Given the description of an element on the screen output the (x, y) to click on. 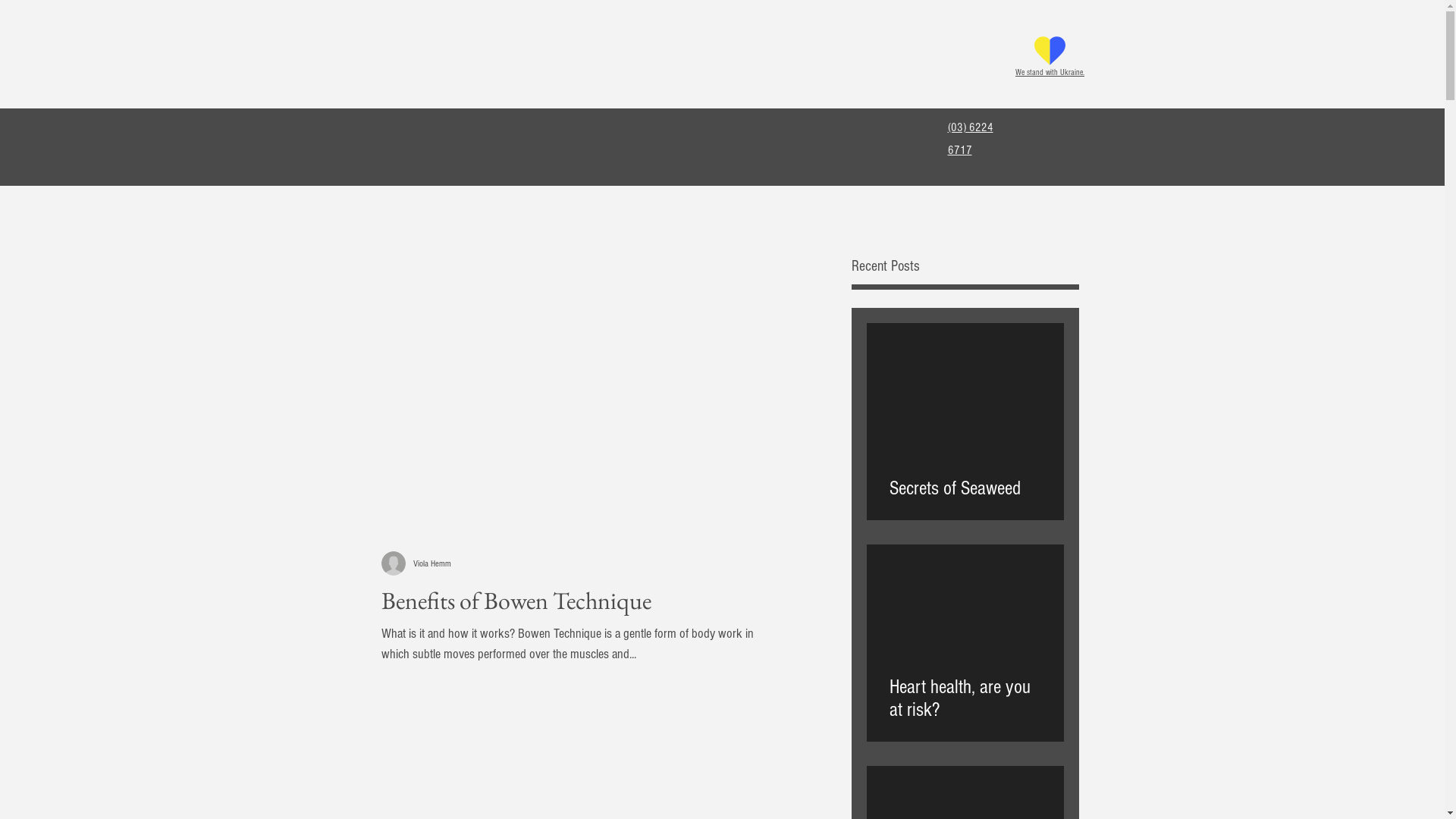
We stand with Ukraine. Element type: text (1049, 71)
Heart health, are you at risk? Element type: text (964, 691)
Home Element type: text (376, 130)
Contact Element type: text (814, 130)
Blog Element type: text (760, 130)
GSM Community Element type: text (685, 130)
(03) 6224 6717 Element type: text (970, 138)
Our Services Element type: text (592, 130)
Secrets of Seaweed Element type: text (964, 481)
Shop Element type: text (527, 130)
